Given the description of an element on the screen output the (x, y) to click on. 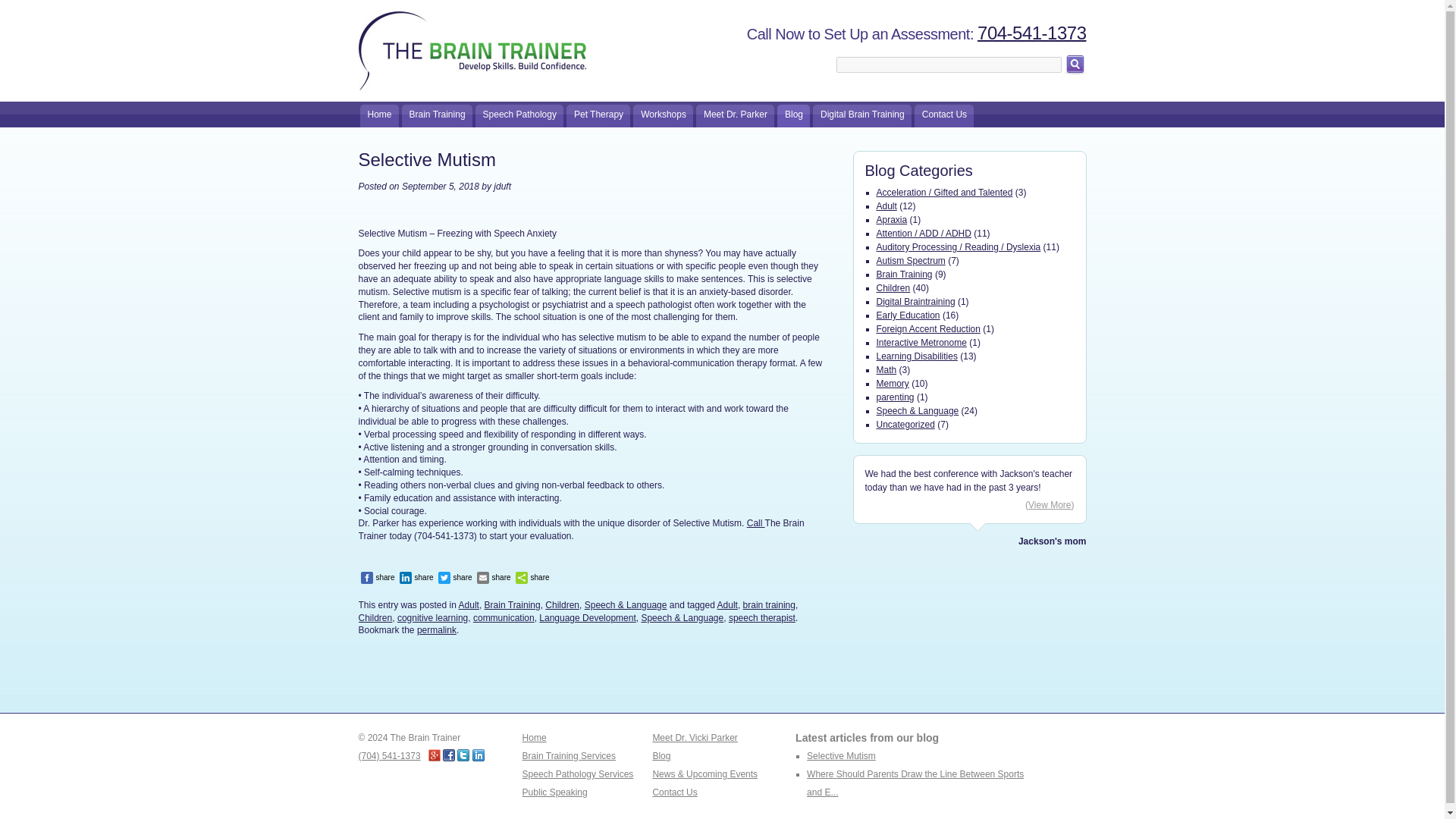
Charlotte Brain Training (471, 45)
Contact Us (944, 115)
communication (503, 617)
704-541-1373 (1031, 33)
Call (755, 522)
Workshops (663, 115)
Home (378, 115)
Brain Training (436, 115)
cognitive learning (432, 617)
Children (374, 617)
Charlotte Brain Training (471, 45)
Children (561, 604)
Brain Training (436, 115)
Digital Brain Training (861, 115)
brain training (768, 604)
